Given the description of an element on the screen output the (x, y) to click on. 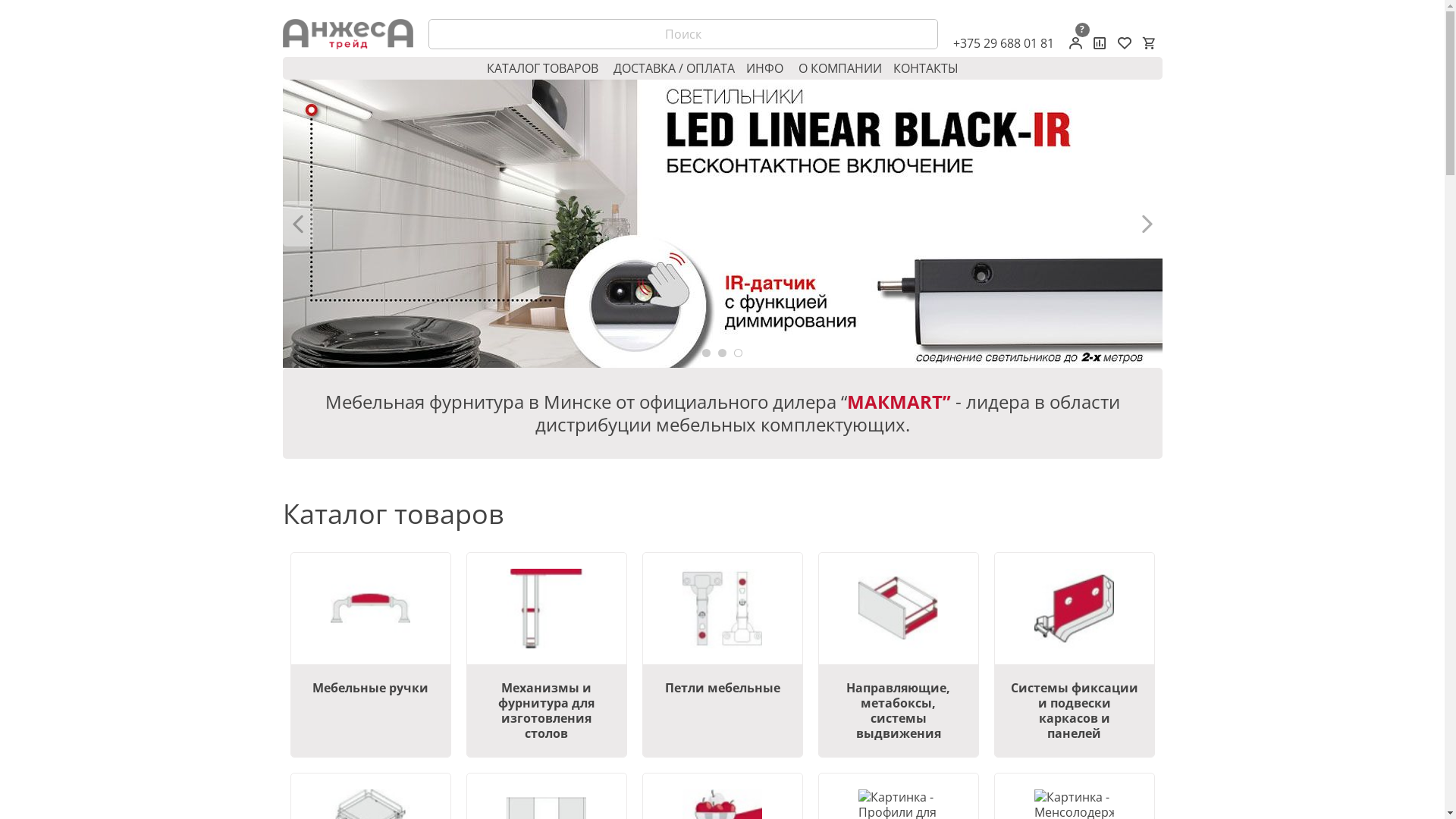
+375 29 688 01 81 Element type: text (1002, 43)
